Given the description of an element on the screen output the (x, y) to click on. 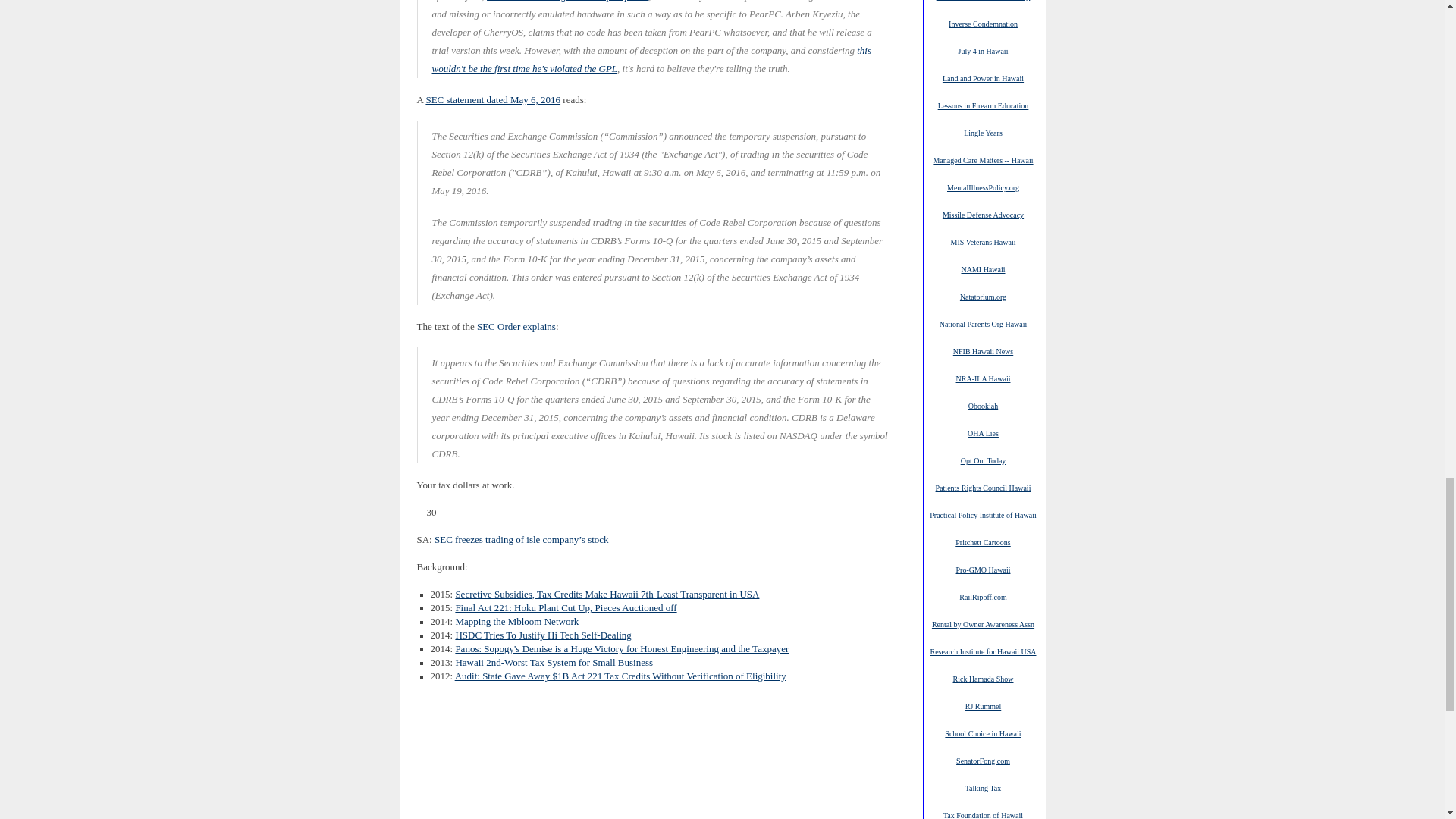
this wouldn't be the first time he's violated the GPL (652, 58)
Hawaii 2nd-Worst Tax System for Small Business (553, 662)
Final Act 221: Hoku Plant Cut Up, Pieces Auctioned off (565, 607)
Mapping the Mbloom Network (516, 621)
mirrored in the long thread at pearpc.net (566, 1)
SEC statement dated May 6, 2016 (492, 100)
SEC Order explains (516, 326)
HSDC Tries To Justify Hi Tech Self-Dealing (542, 634)
